Given the description of an element on the screen output the (x, y) to click on. 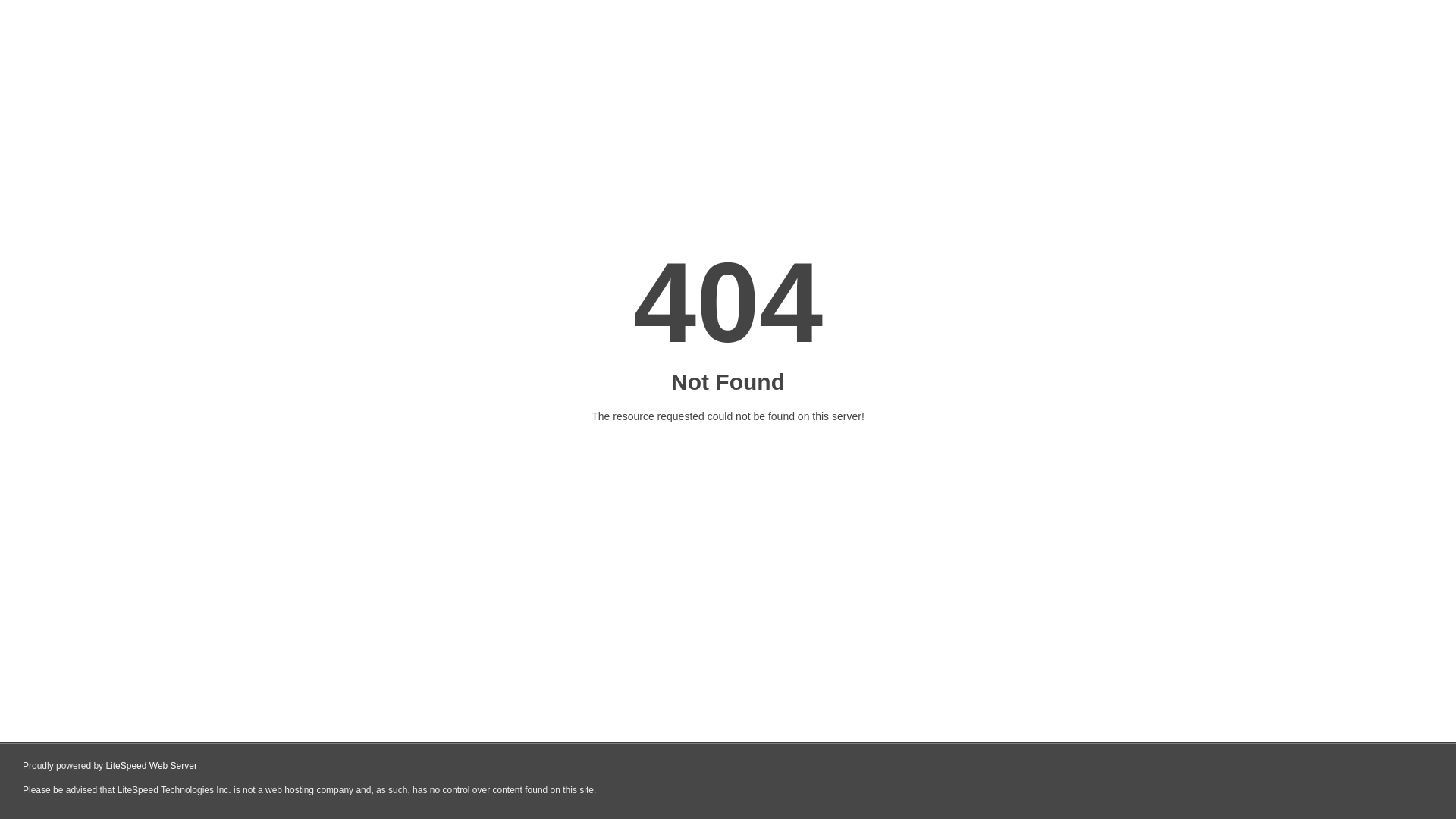
LiteSpeed Web Server Element type: text (151, 765)
